Given the description of an element on the screen output the (x, y) to click on. 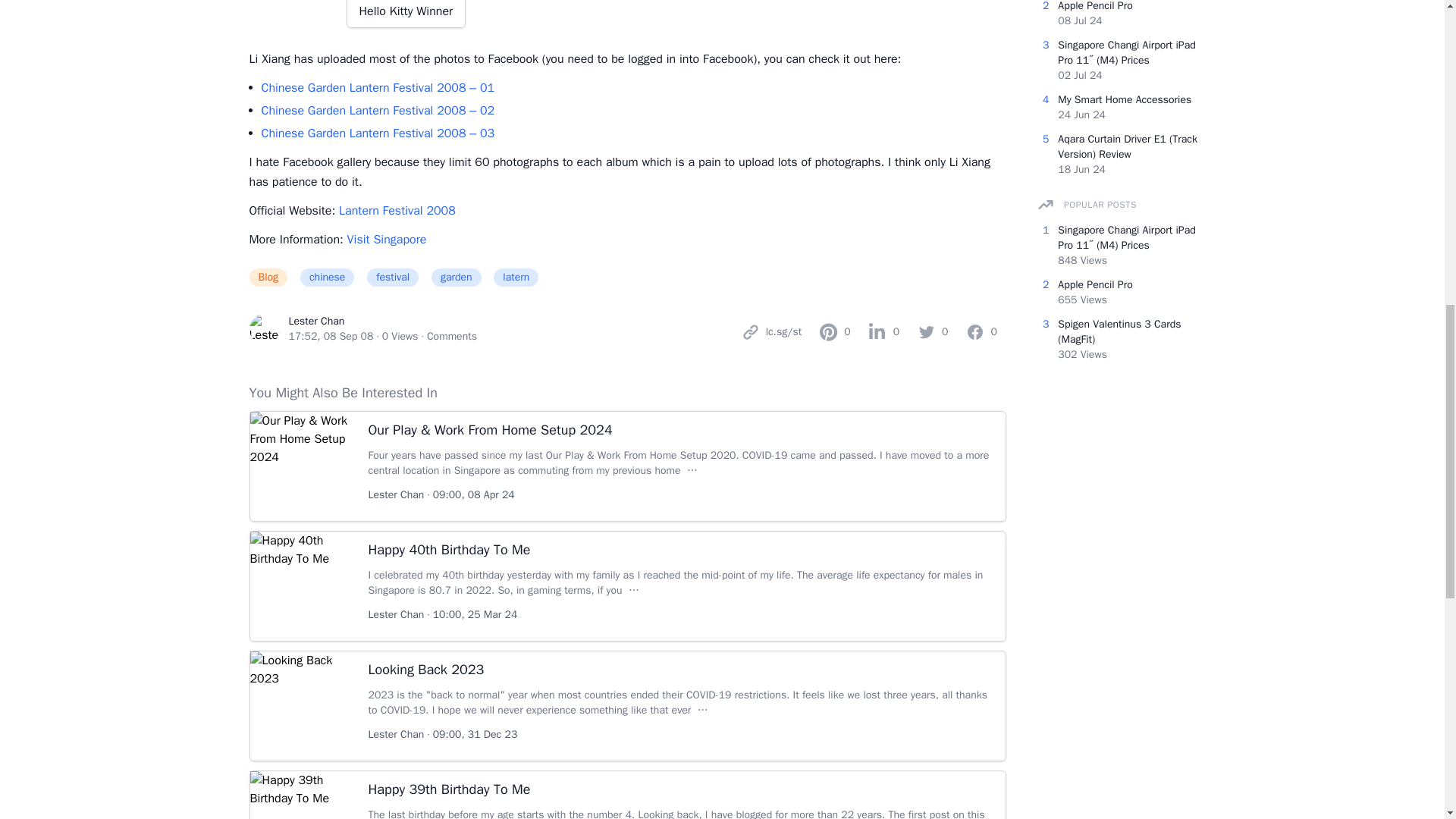
Lester Chan (315, 320)
Visit Singapore (386, 239)
Tag: garden (460, 281)
Lantern Festival 2008 (397, 210)
0 (834, 331)
0 (932, 331)
Lester Chan (315, 320)
Category: Blog (272, 281)
Tag: festival (397, 281)
0 Views (400, 336)
Tag: latern (520, 281)
garden (460, 281)
Comments (451, 336)
festival (397, 281)
Views (400, 336)
